Given the description of an element on the screen output the (x, y) to click on. 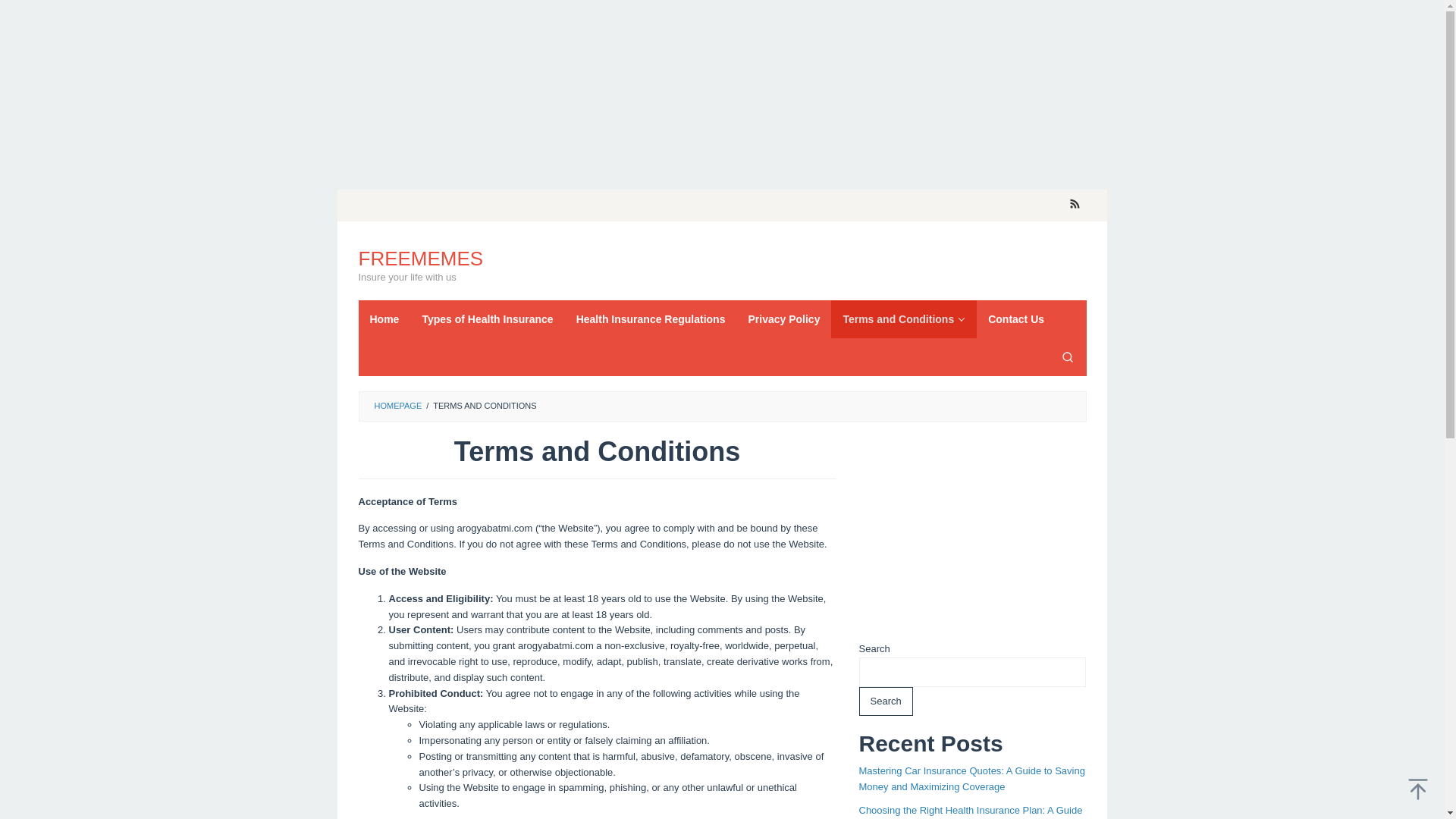
Health Insurance Regulations (650, 319)
Search (1067, 356)
FREEMEMES (420, 258)
Contact Us (1015, 319)
FREEMEMES (420, 258)
Privacy Policy (783, 319)
Types of Health Insurance (487, 319)
